Given the description of an element on the screen output the (x, y) to click on. 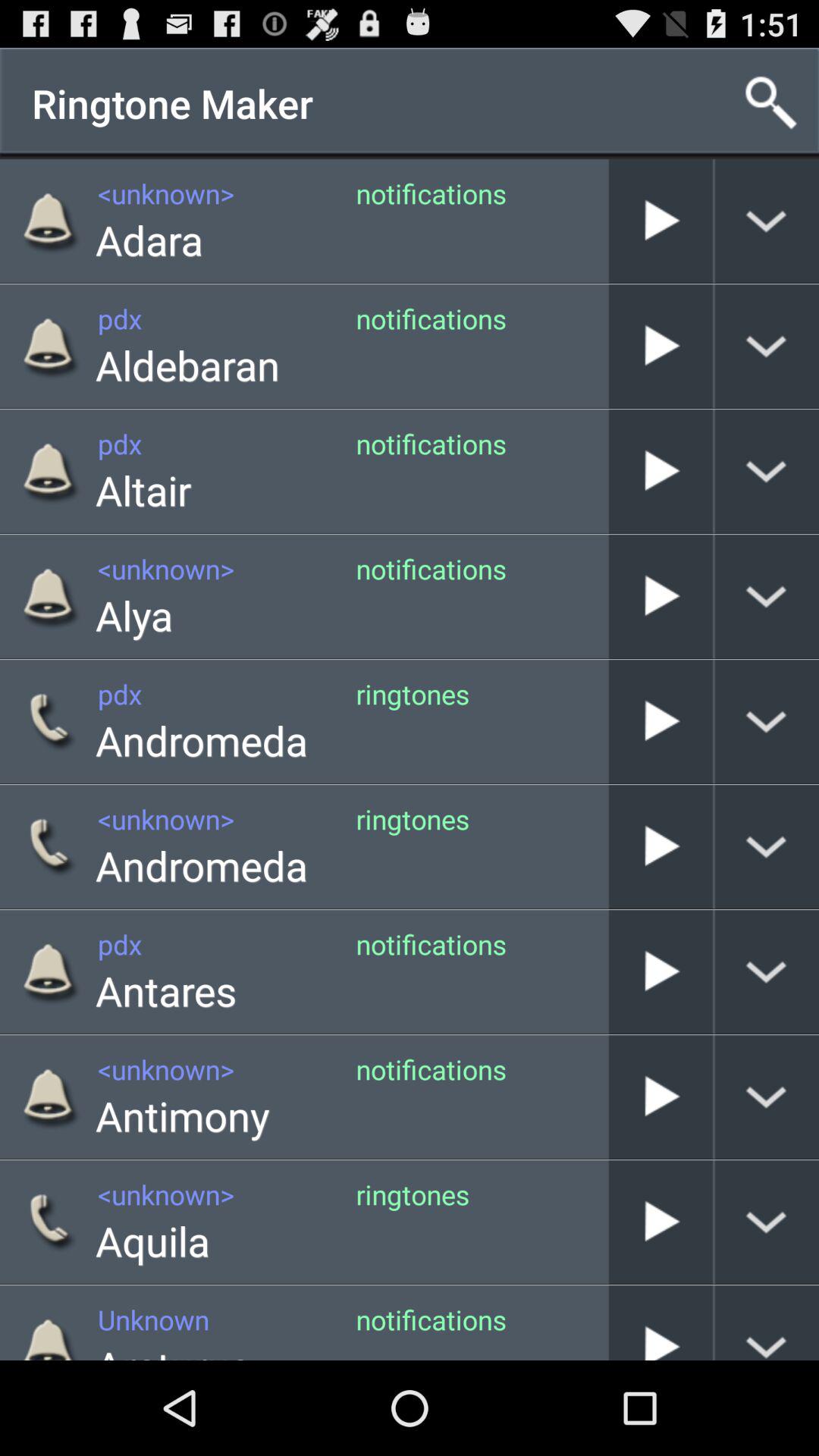
go to right of third play button (767, 471)
click on second pause button from top (660, 346)
click on the play button beside aquila ringtones (660, 1222)
